Given the description of an element on the screen output the (x, y) to click on. 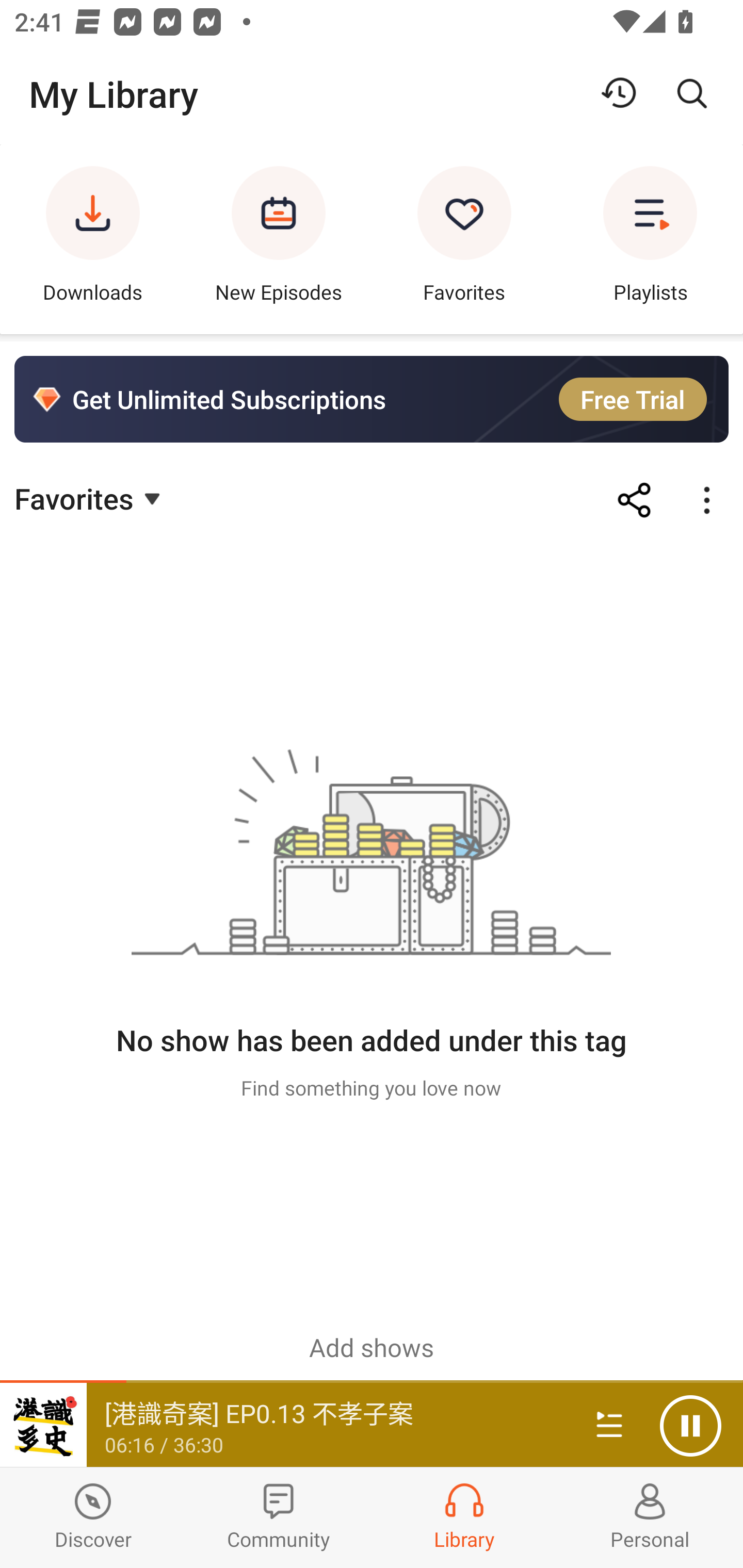
Downloads (92, 238)
New Episodes (278, 238)
Favorites (464, 238)
Playlists (650, 238)
Get Unlimited Subscriptions Free Trial (371, 398)
Free Trial (632, 398)
Favorites (90, 497)
Add shows (371, 1346)
[港識奇案] EP0.13 不孝子案 06:16 / 36:30 (283, 1424)
Pause (690, 1425)
Discover (92, 1517)
Community (278, 1517)
Library (464, 1517)
Profiles and Settings Personal (650, 1517)
